Given the description of an element on the screen output the (x, y) to click on. 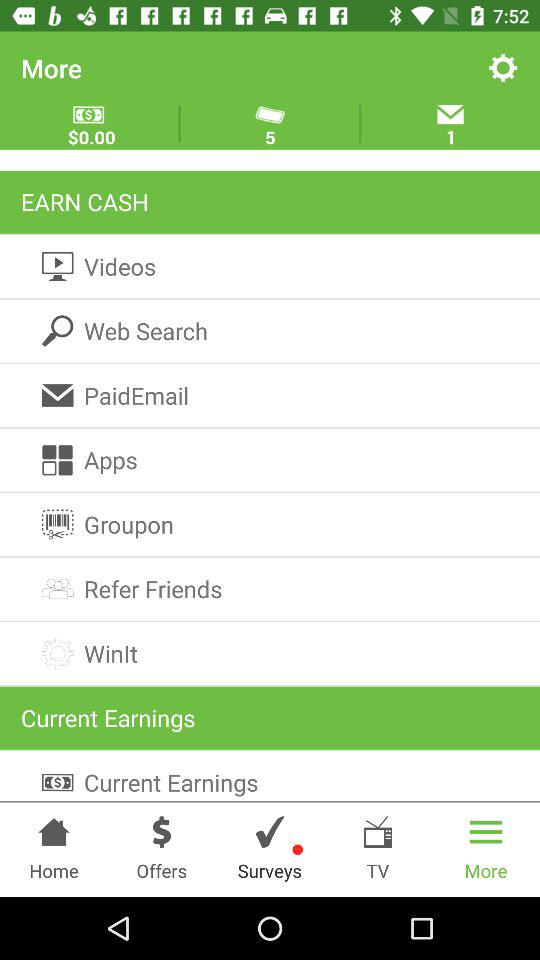
launch icon above paidemail icon (270, 330)
